Given the description of an element on the screen output the (x, y) to click on. 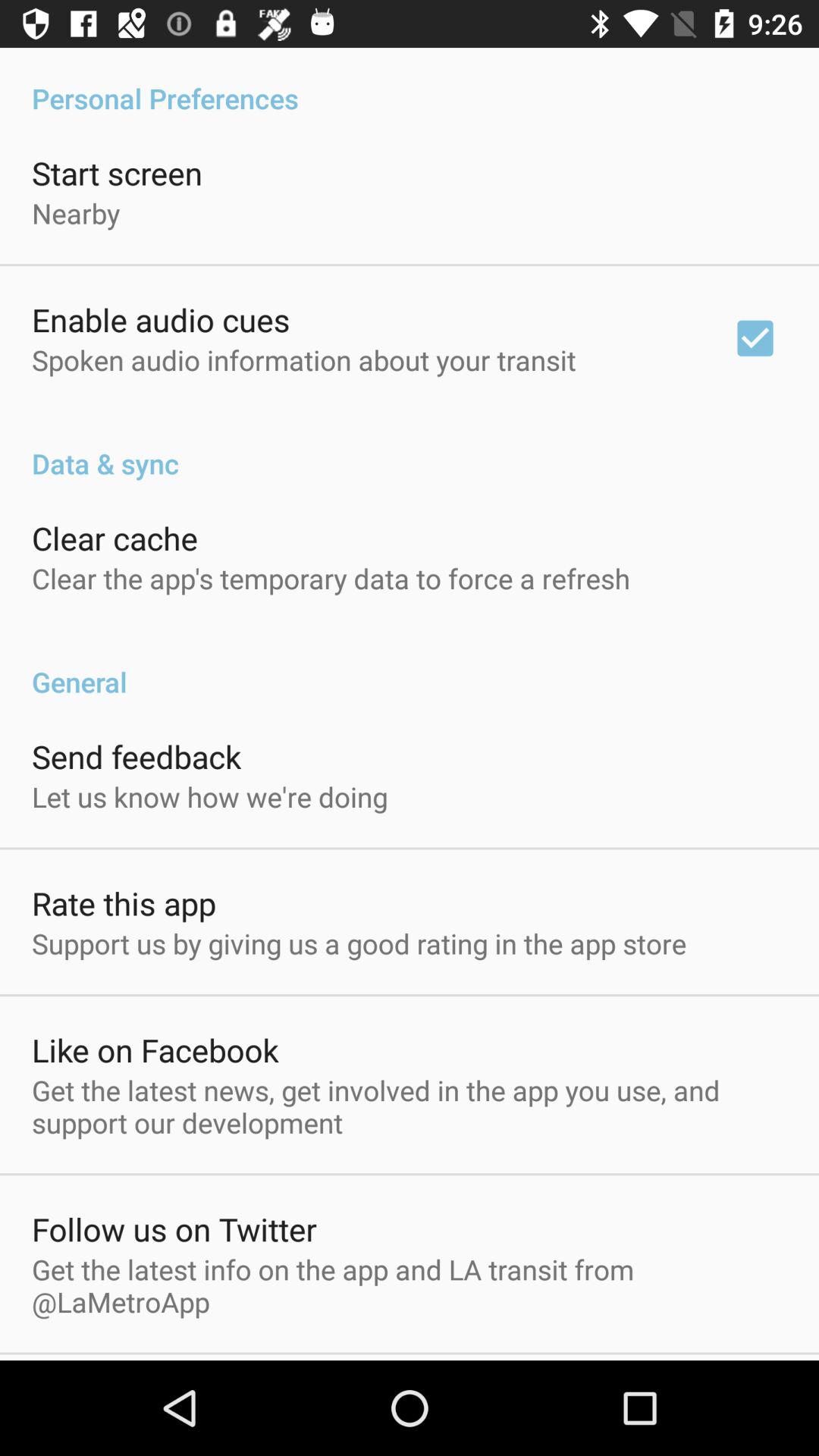
open the icon at the top right corner (755, 338)
